Given the description of an element on the screen output the (x, y) to click on. 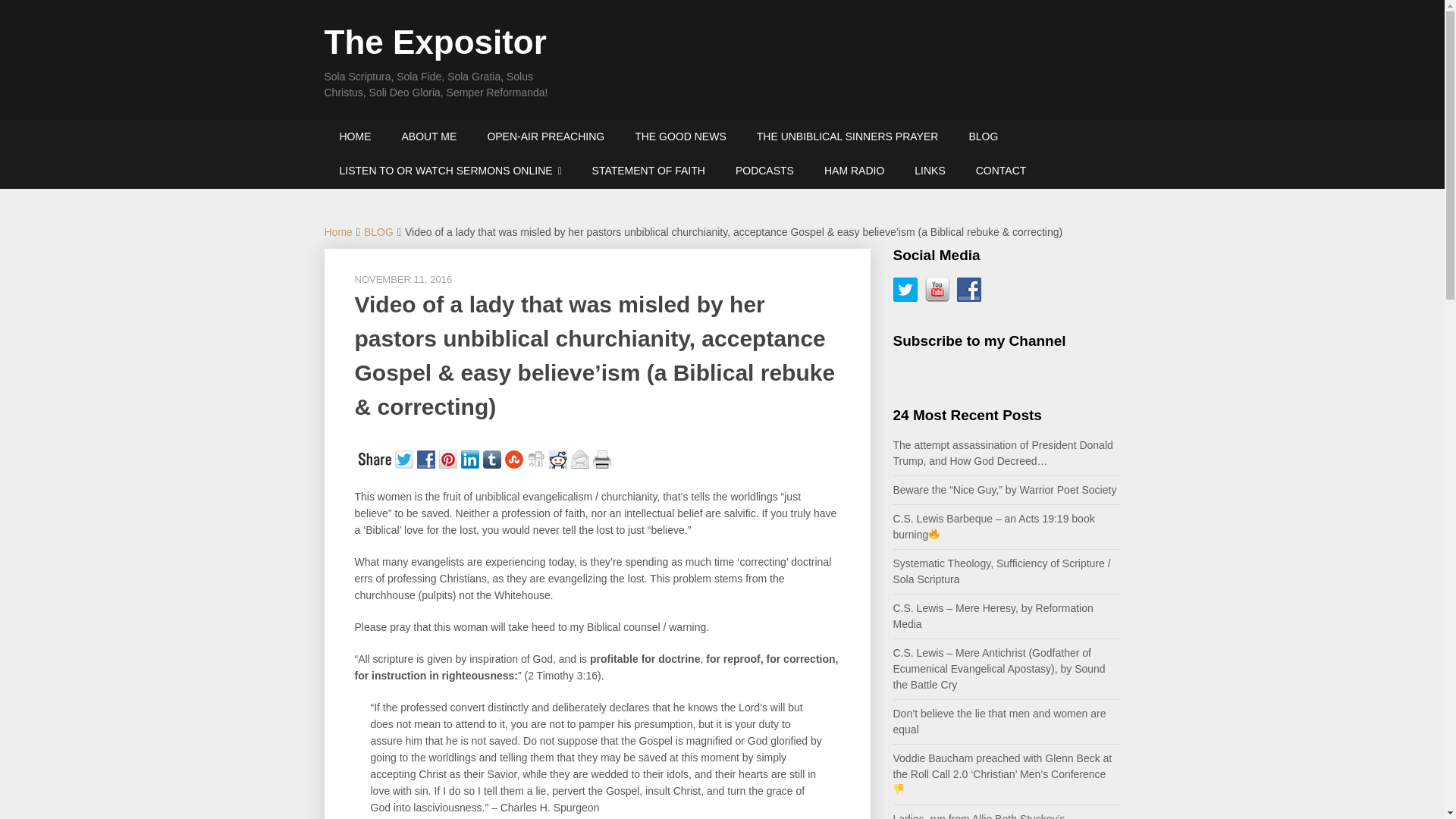
ABOUT ME (429, 136)
OPEN-AIR PREACHING (545, 136)
Email (581, 457)
Reddit (559, 457)
Digg (536, 457)
BLOG (983, 136)
LISTEN TO OR WATCH SERMONS ONLINE (450, 170)
HOME (355, 136)
Tumblr (492, 457)
THE UNBIBLICAL SINNERS PRAYER (847, 136)
Linkedin (472, 457)
StumbleUpon (516, 457)
Print (603, 457)
Twitter (405, 457)
Facebook (427, 457)
